Given the description of an element on the screen output the (x, y) to click on. 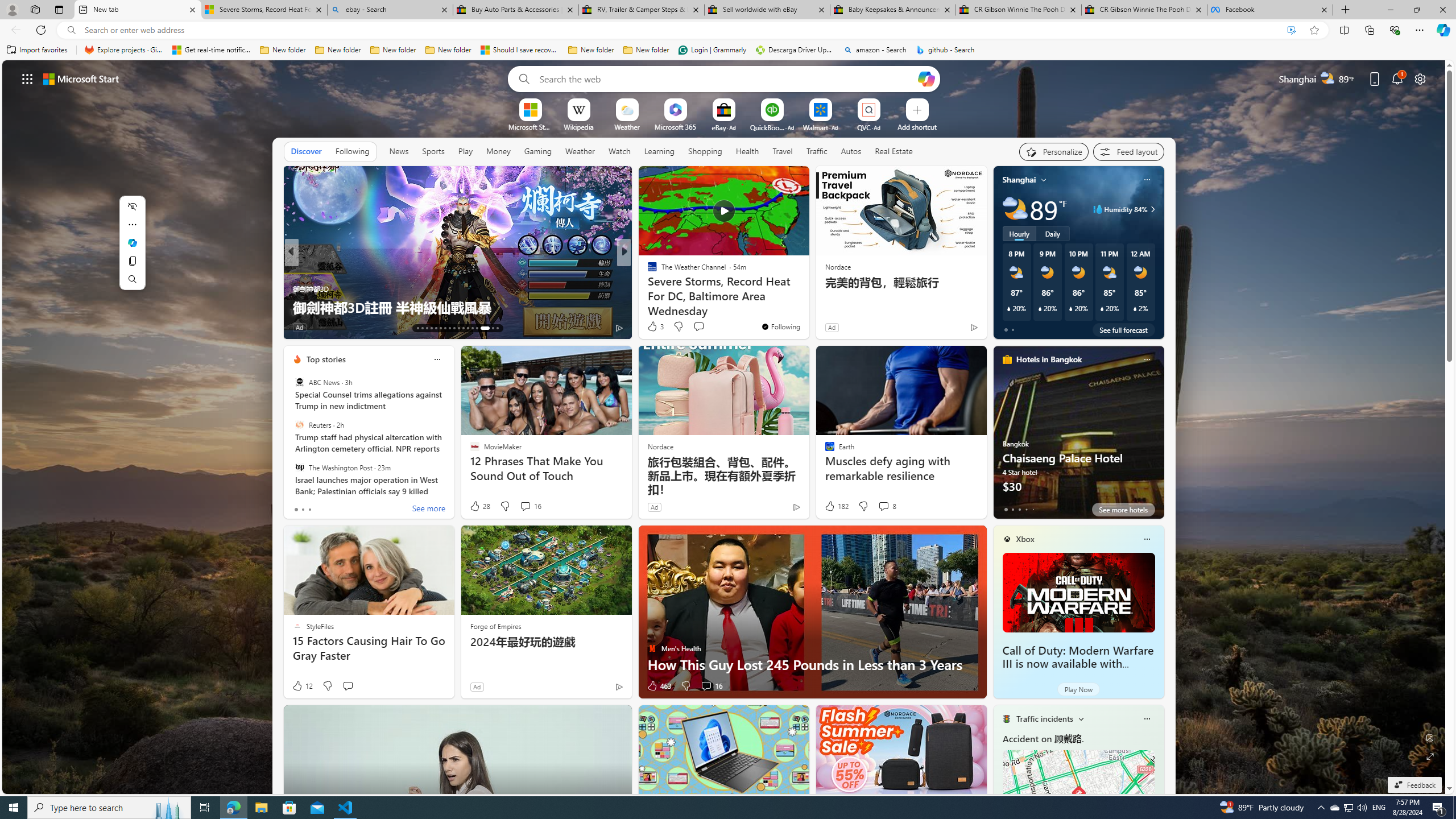
Athletes That Died Far Too Young (807, 307)
See more (428, 509)
Ad (476, 686)
116 Like (304, 327)
Ad Choice (619, 686)
Notifications (1397, 78)
The Washington Post (299, 466)
View comments 167 Comment (6, 327)
Following (352, 151)
Personal Profile (12, 9)
Microsoft Start Sports (529, 126)
Hourly (1018, 233)
Chaisaeng Palace Hotel (1078, 436)
Address and search bar (680, 29)
tab-4 (1032, 509)
